Given the description of an element on the screen output the (x, y) to click on. 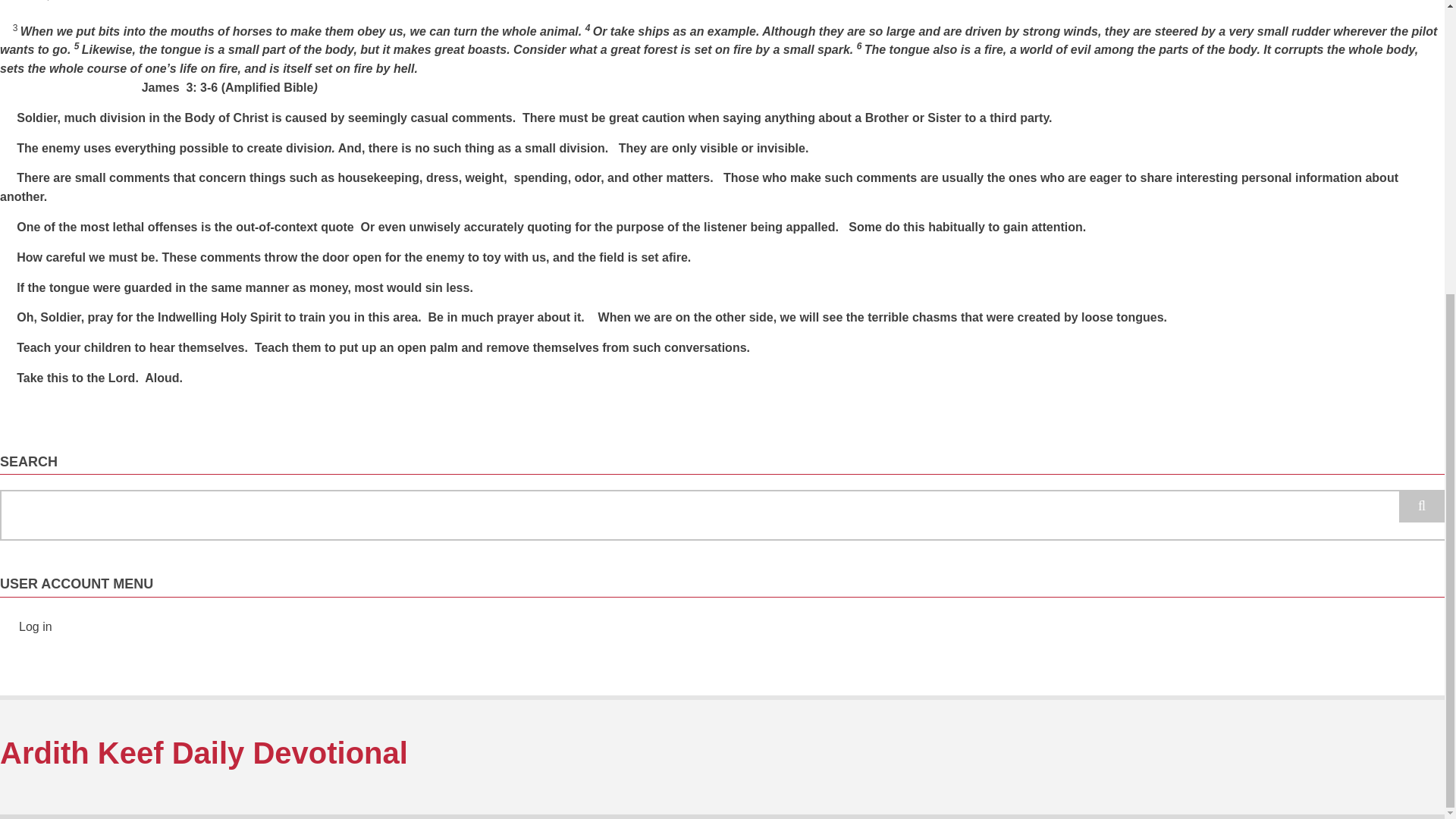
Home (203, 752)
Ardith Keef Daily Devotional (203, 752)
